Given the description of an element on the screen output the (x, y) to click on. 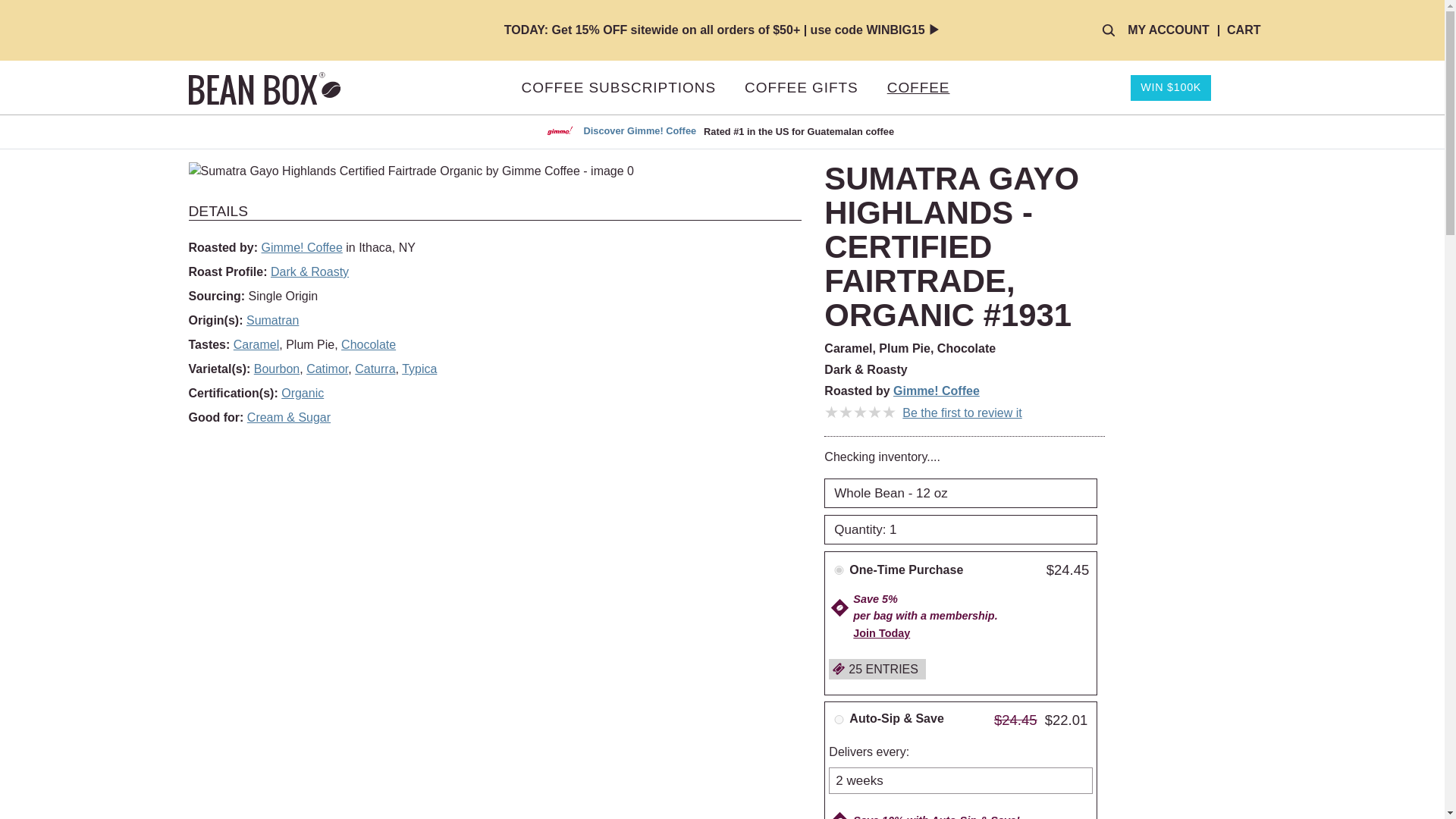
quantity to buy (960, 530)
Catimor (326, 368)
COFFEE SUBSCRIPTIONS (618, 87)
Sumatran (272, 319)
Chocolate (368, 344)
Be the first to review it (962, 412)
Caturra (374, 368)
Organic (302, 392)
on (839, 718)
Caramel (255, 344)
